Given the description of an element on the screen output the (x, y) to click on. 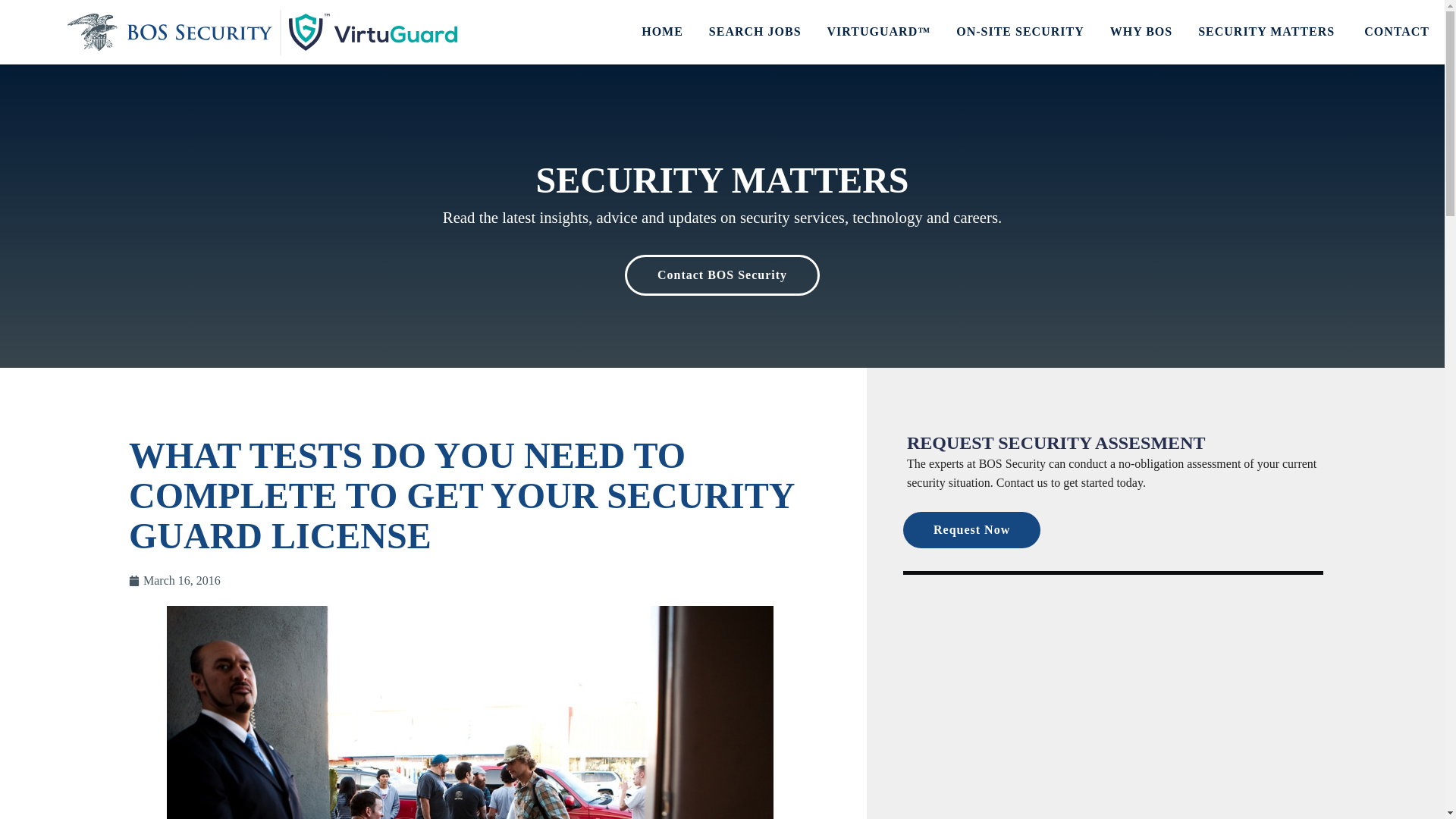
ON-SITE SECURITY (1019, 31)
WHY BOS (1140, 31)
SECURITY MATTERS  (1268, 31)
CONTACT (1396, 31)
SEARCH JOBS (755, 31)
